Given the description of an element on the screen output the (x, y) to click on. 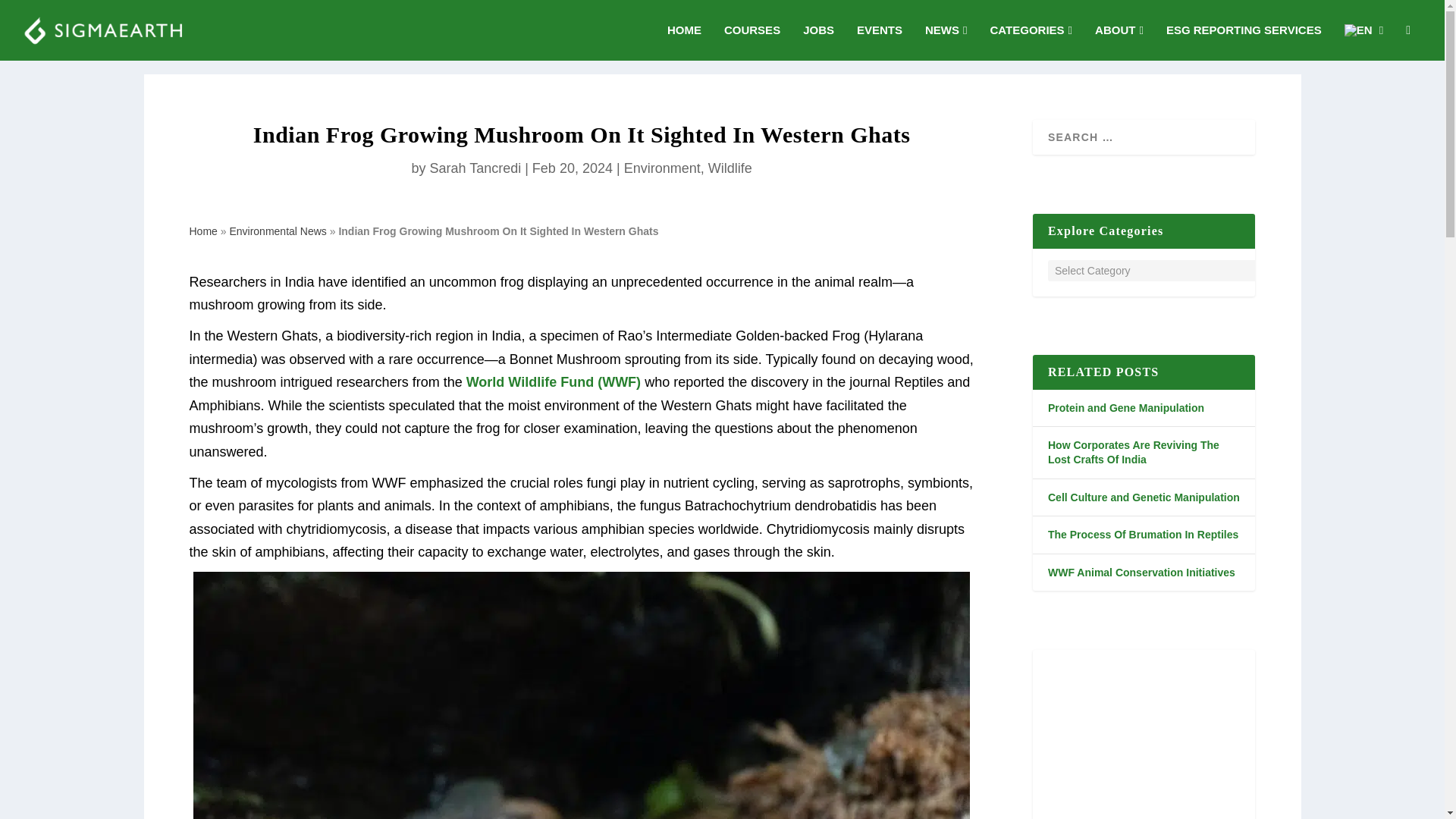
CATEGORIES (1031, 42)
RECENT (1192, 65)
COURSES (751, 42)
EVENTS (879, 42)
NEWS (945, 42)
HOME (683, 42)
